Given the description of an element on the screen output the (x, y) to click on. 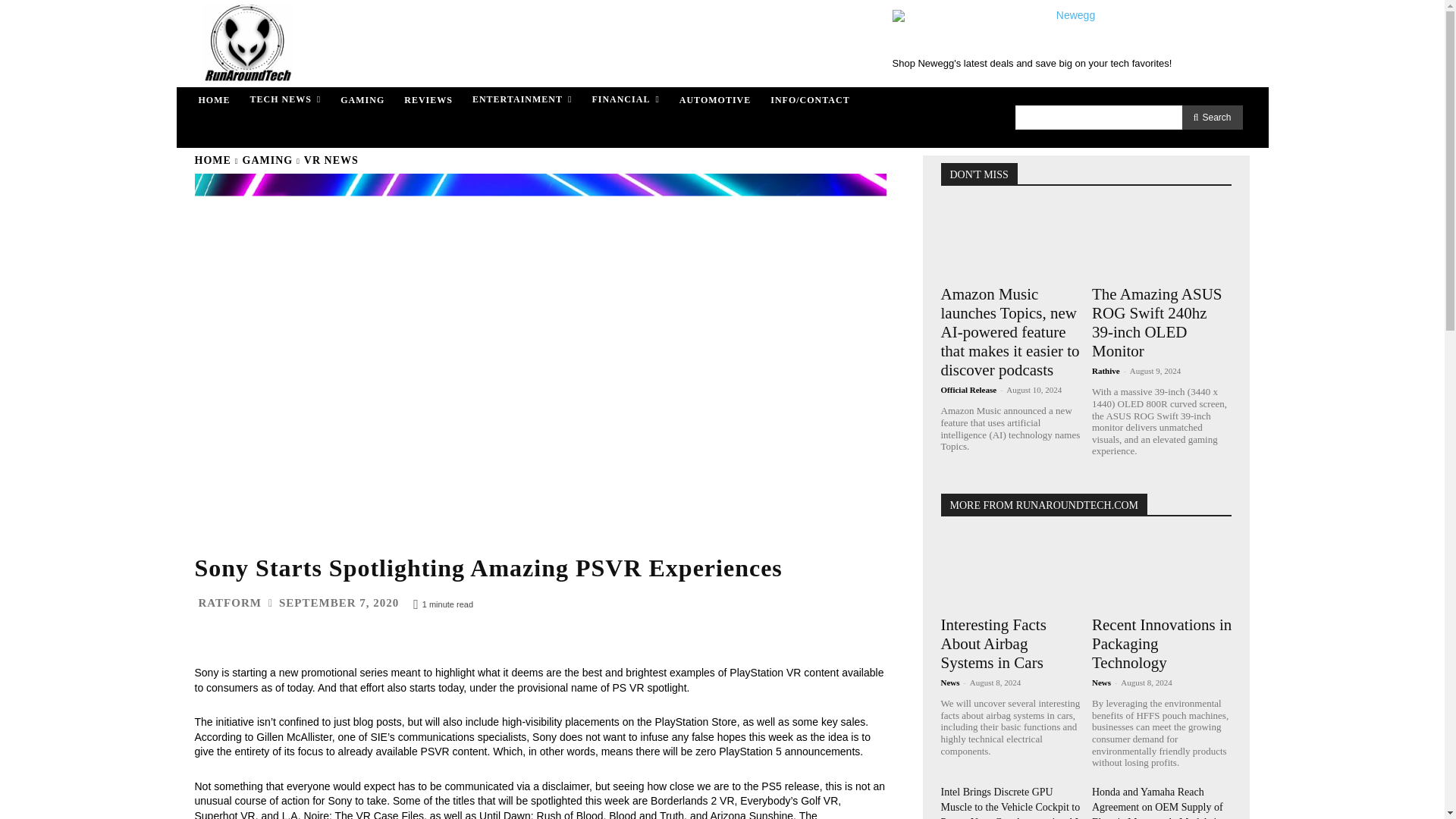
RunAroundTech.com (244, 43)
ENTERTAINMENT (521, 99)
Search (1212, 117)
HOME (214, 99)
View all posts in Gaming (268, 160)
GAMING (362, 99)
AUTOMOTIVE (714, 99)
View all posts in VR News (331, 160)
FINANCIAL (624, 99)
